Given the description of an element on the screen output the (x, y) to click on. 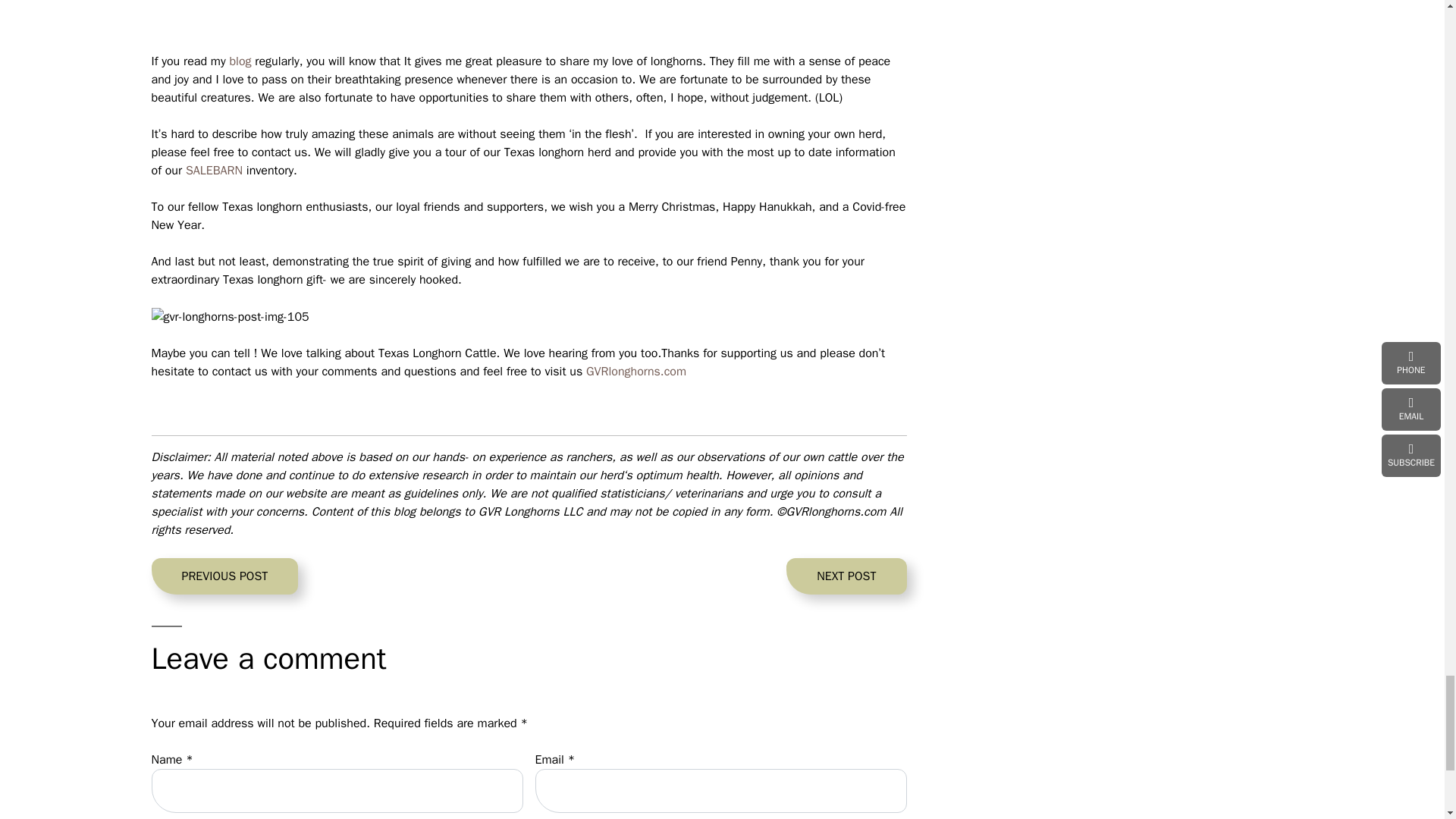
blog (239, 61)
SALEBARN (224, 575)
GVRlonghorns.com (214, 170)
